Given the description of an element on the screen output the (x, y) to click on. 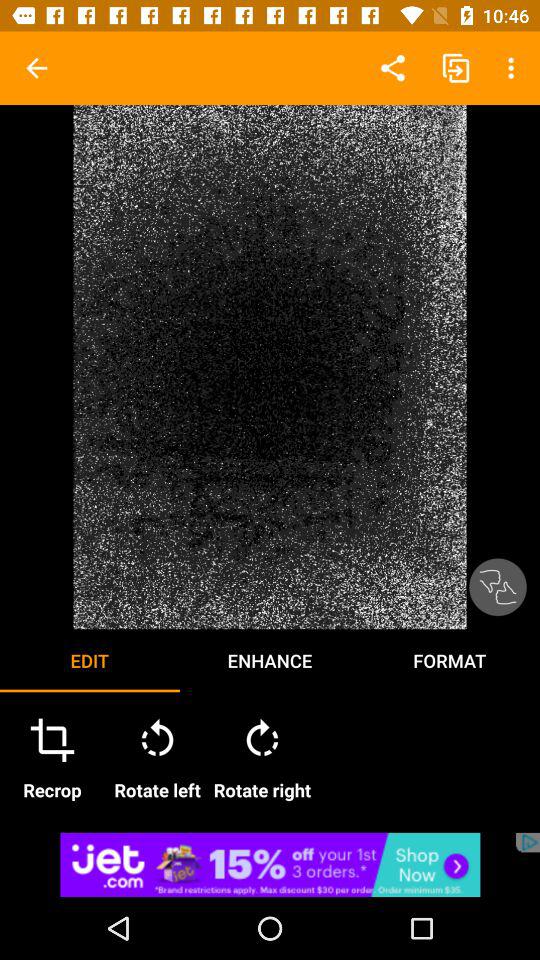
share the article (270, 864)
